Given the description of an element on the screen output the (x, y) to click on. 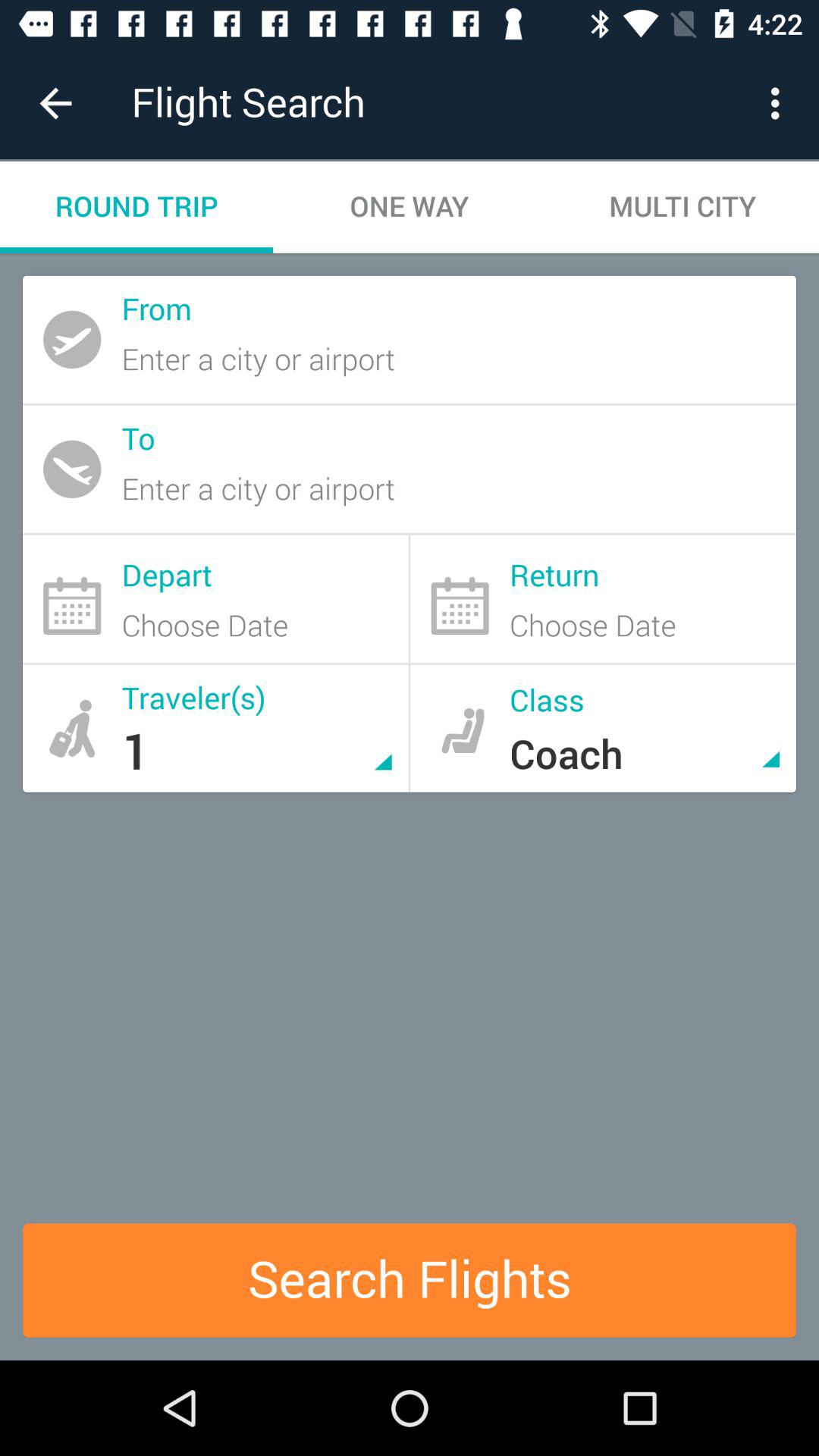
click the item next to flight search (55, 103)
